Given the description of an element on the screen output the (x, y) to click on. 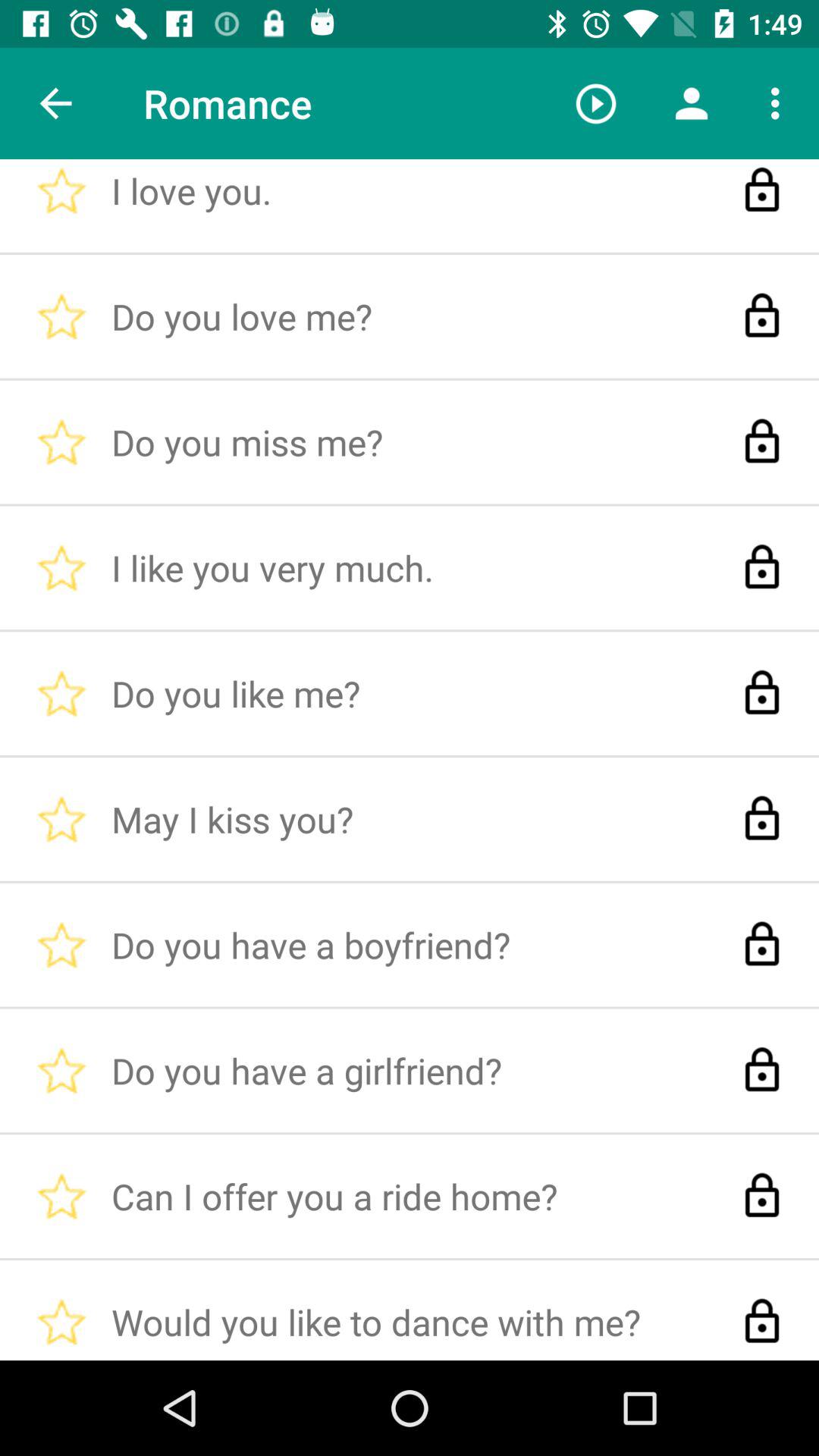
click on second lock symbol from the top (762, 315)
